Given the description of an element on the screen output the (x, y) to click on. 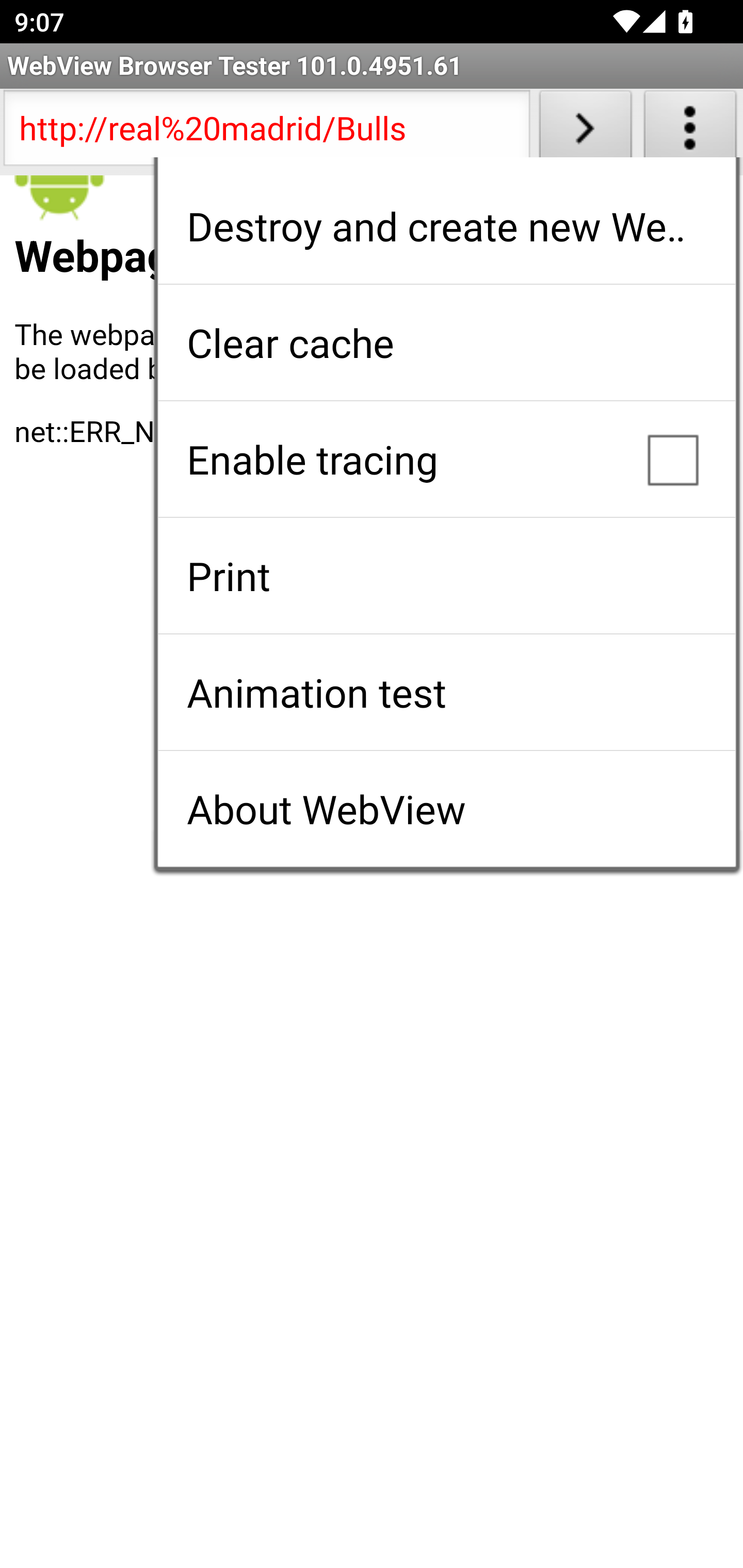
Destroy and create new WebView (446, 225)
Clear cache (446, 342)
Enable tracing (446, 459)
Print (446, 575)
Animation test (446, 692)
About WebView (446, 809)
